Given the description of an element on the screen output the (x, y) to click on. 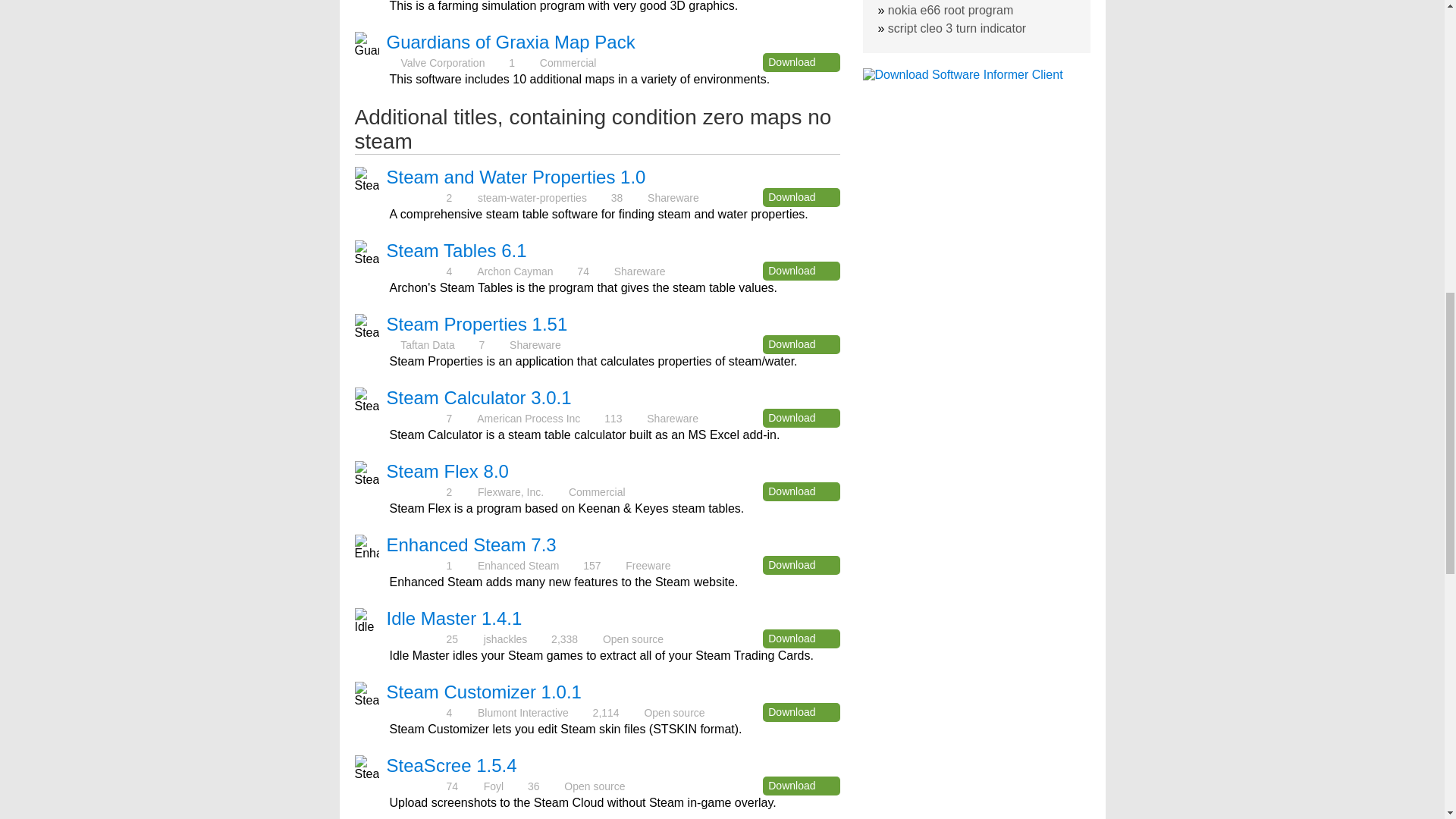
Enhanced Steam 7.3 (471, 544)
Download (801, 417)
5 (415, 197)
5 (415, 491)
Download (801, 62)
Steam and Water Properties 1.0 (516, 177)
Steam Tables 6.1 (457, 250)
Steam Flex 8.0 (447, 471)
4 (415, 418)
Download (801, 565)
